Given the description of an element on the screen output the (x, y) to click on. 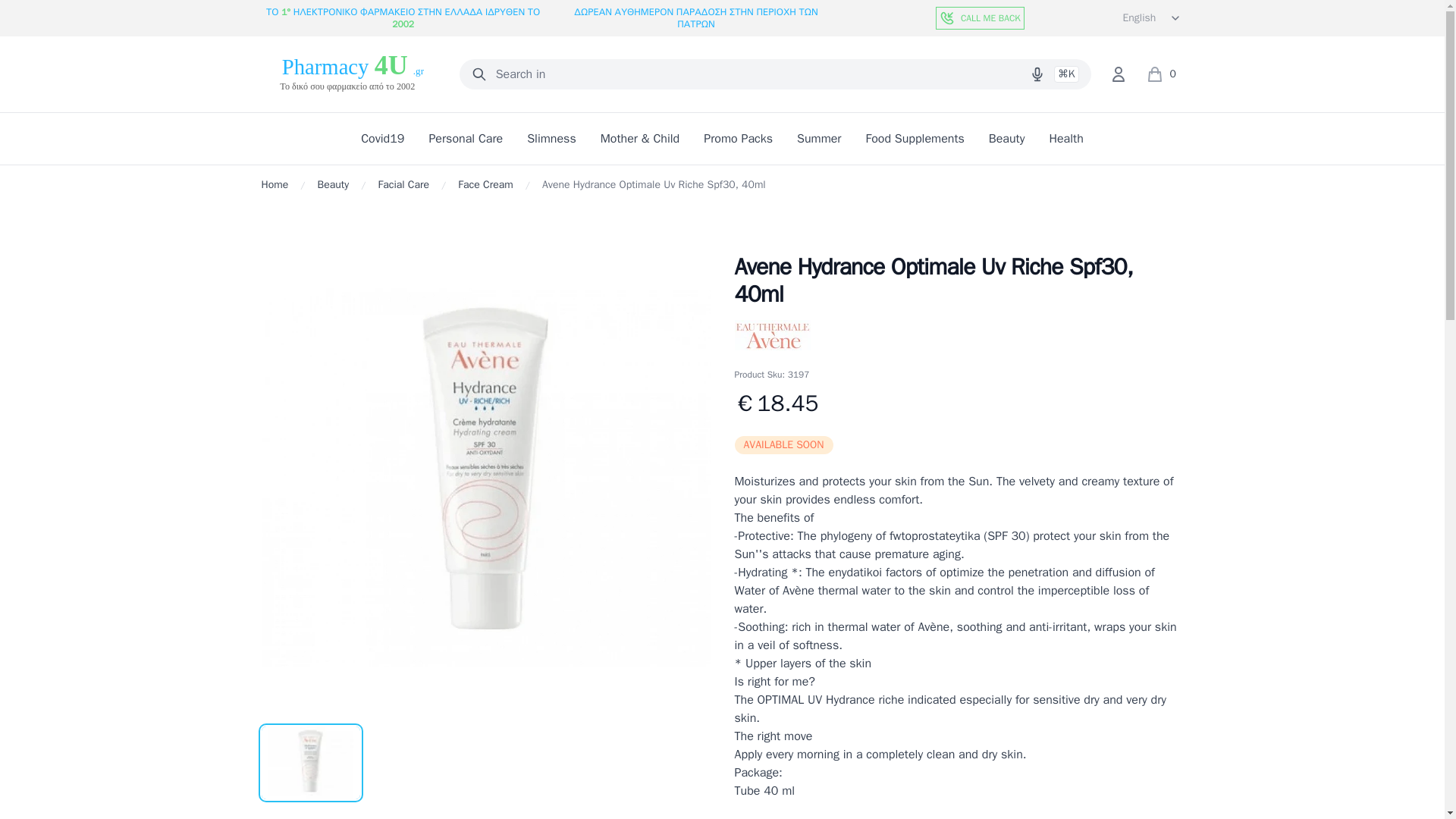
Food Supplements (913, 138)
Covid19 (382, 138)
Pharmacy4u (350, 74)
Face Cream (485, 184)
CALL ME BACK (979, 17)
Beauty (333, 184)
Home (274, 184)
Personal Care (465, 138)
Summer (818, 138)
Facial Care (403, 184)
